Given the description of an element on the screen output the (x, y) to click on. 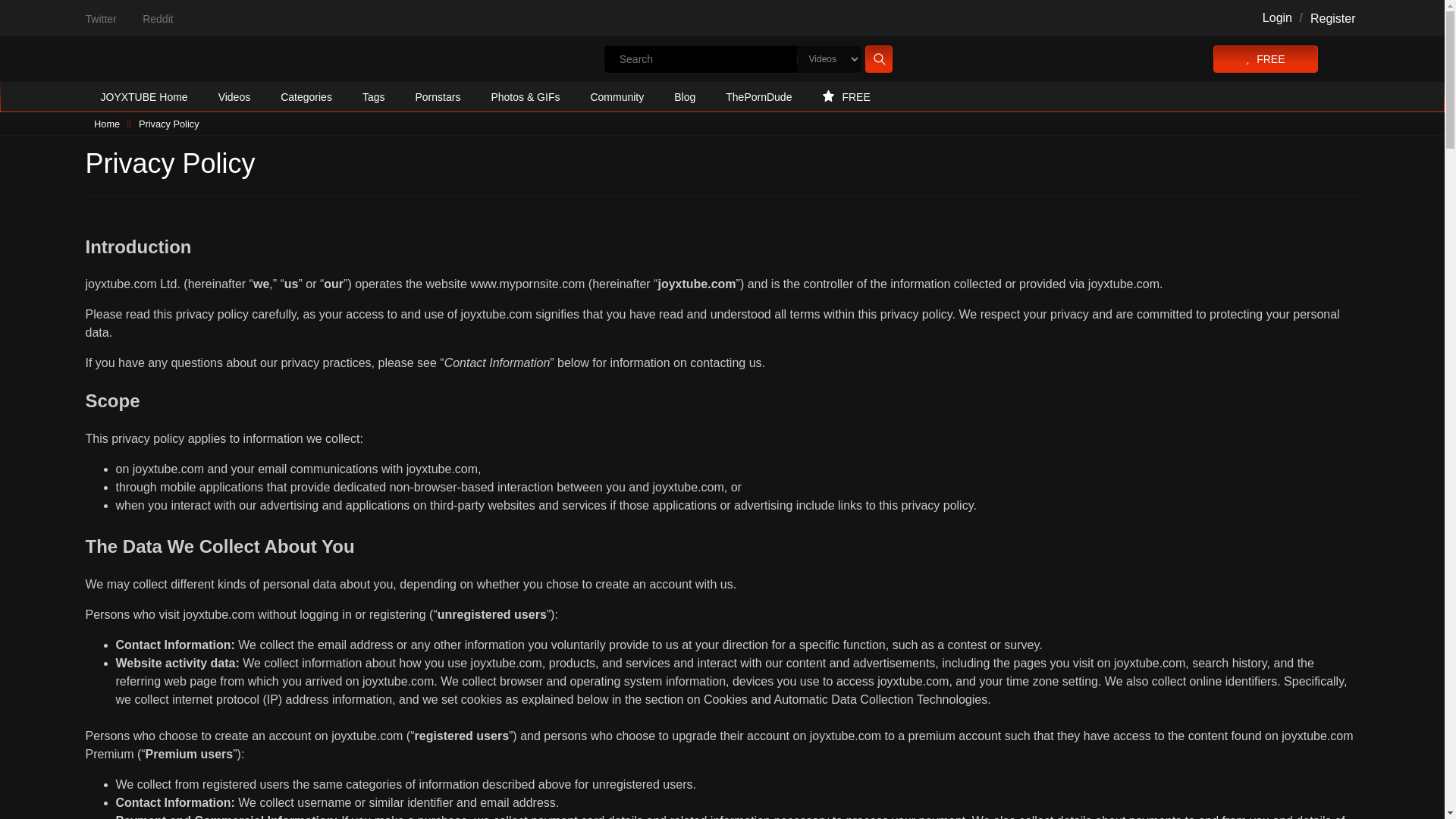
Blog (684, 96)
JOYXTUBE Home (143, 96)
Register (1332, 18)
Home (106, 124)
FREE (845, 96)
Categories (305, 96)
Twitter (100, 19)
Reddit (157, 19)
Community (617, 96)
ThePornDude (758, 96)
